Given the description of an element on the screen output the (x, y) to click on. 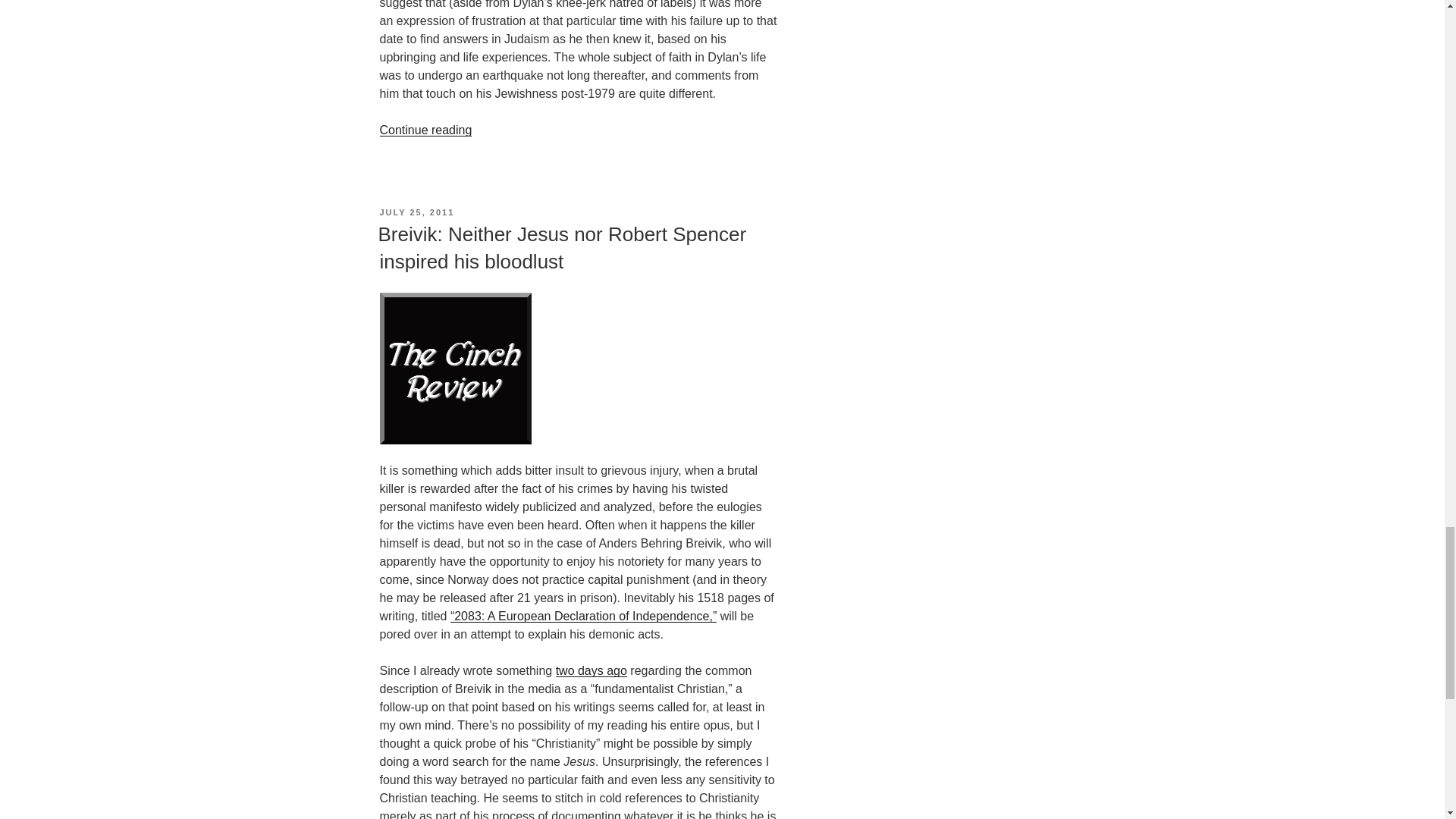
JULY 25, 2011 (416, 212)
two days ago (591, 670)
